Given the description of an element on the screen output the (x, y) to click on. 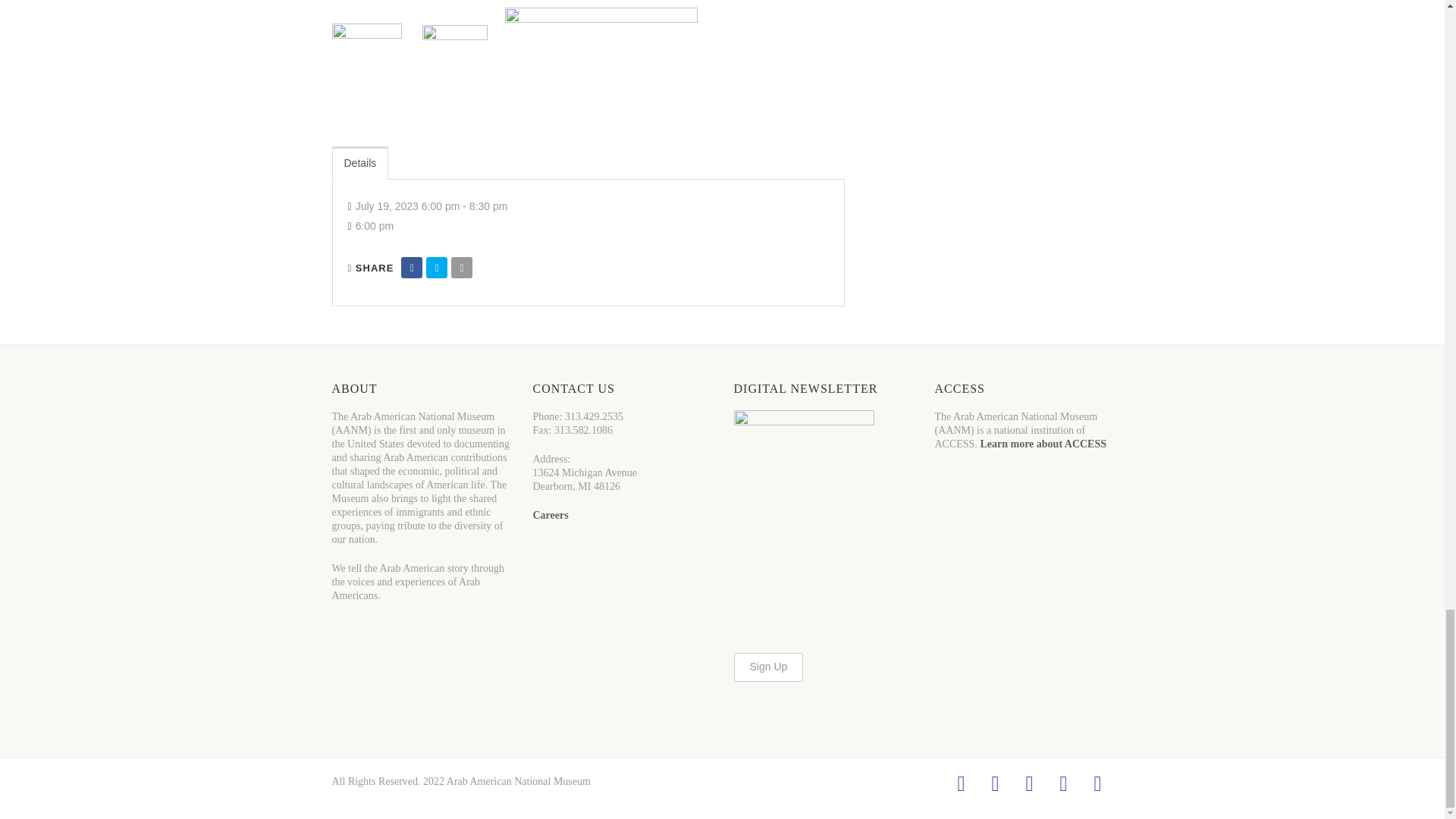
Tweet (436, 267)
Email (461, 267)
Share on Facebook (411, 267)
